Given the description of an element on the screen output the (x, y) to click on. 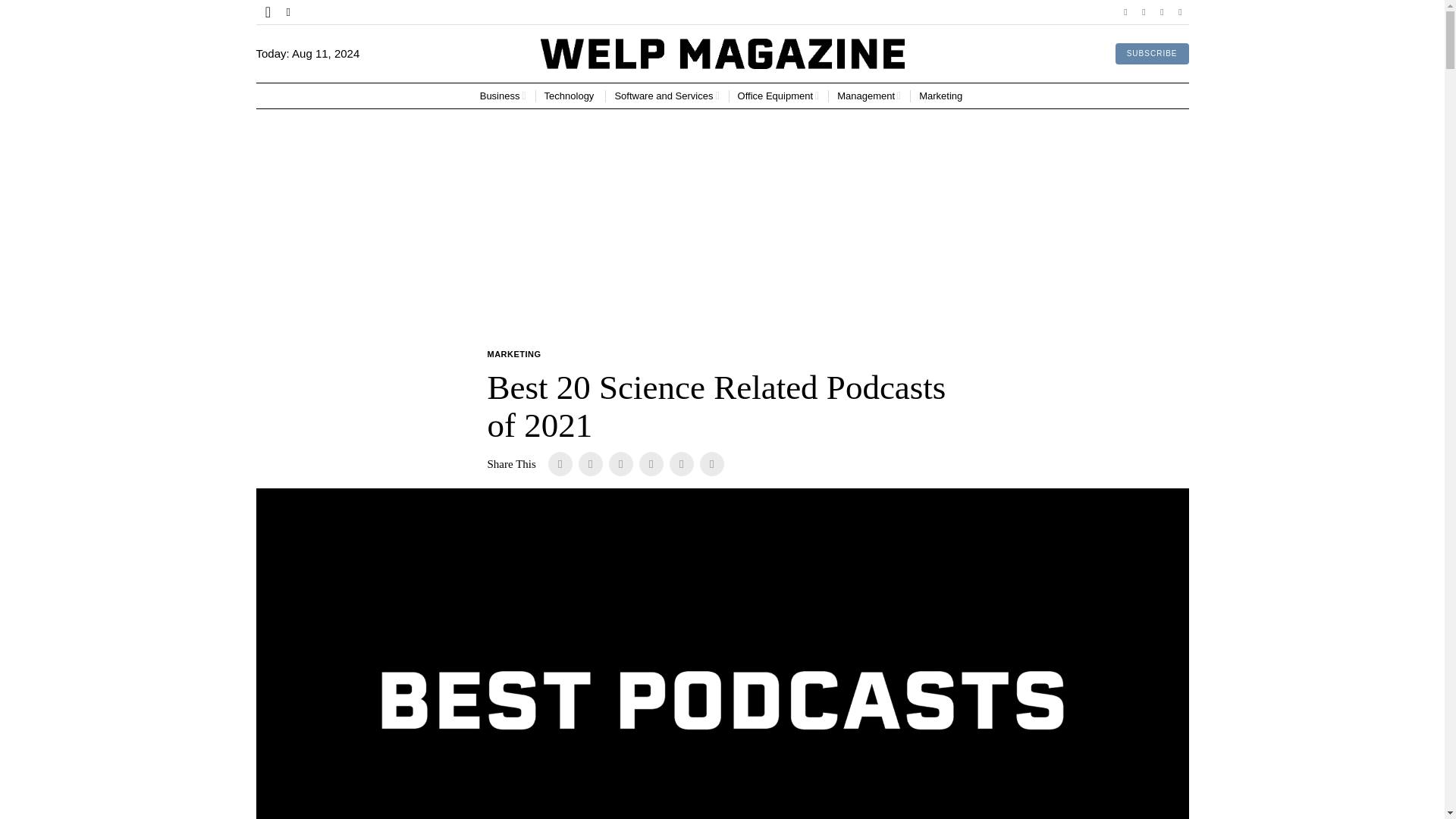
Business (502, 95)
MARKETING (513, 354)
Management (869, 95)
Office Equipment (778, 95)
Marketing (942, 95)
SUBSCRIBE (1152, 53)
Technology (570, 95)
Software and Services (666, 95)
